Given the description of an element on the screen output the (x, y) to click on. 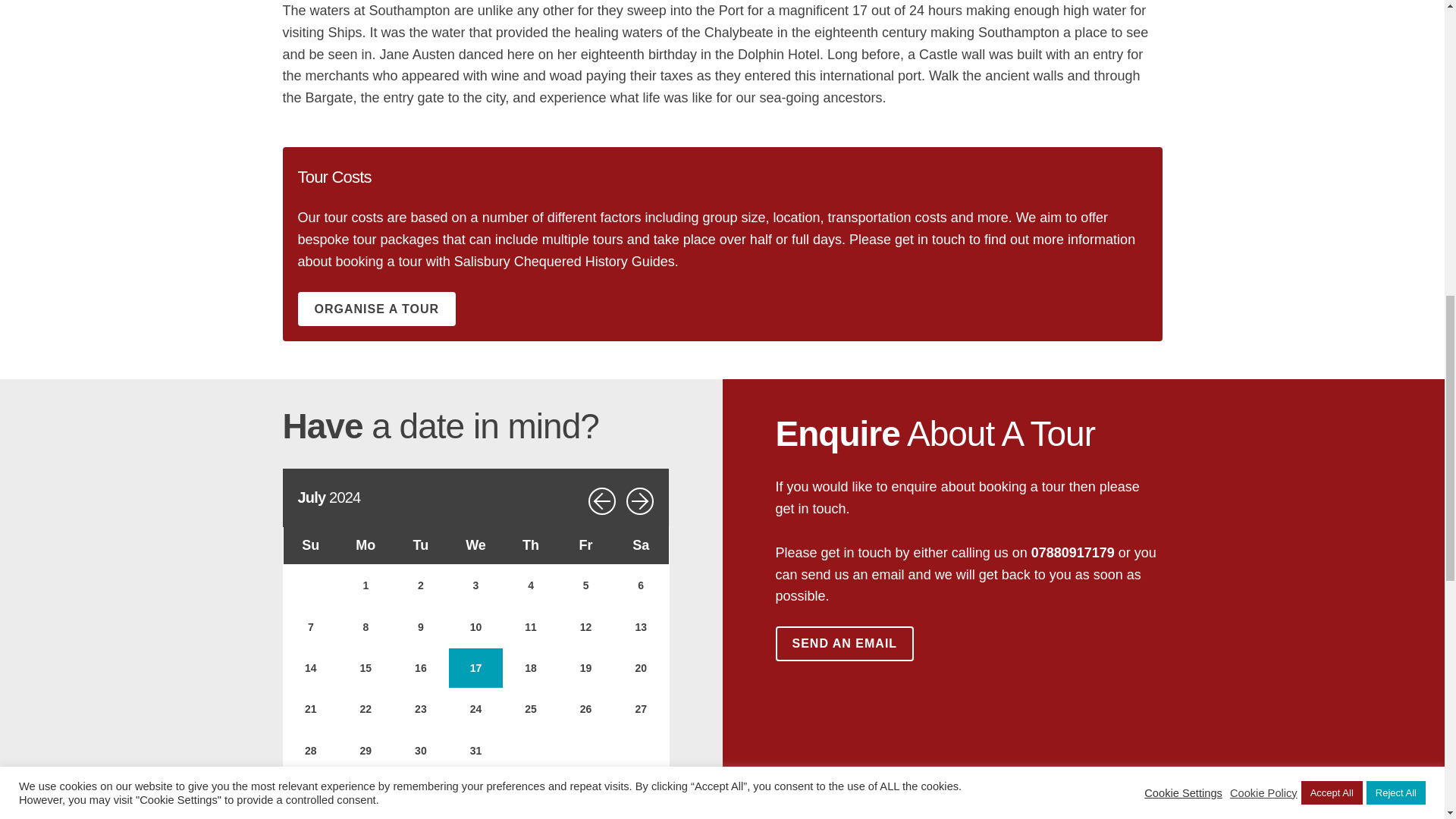
ORGANISE A TOUR (376, 308)
07880917179 (1072, 552)
SEND AN EMAIL (844, 643)
ORGANISE A TOUR (376, 308)
